Given the description of an element on the screen output the (x, y) to click on. 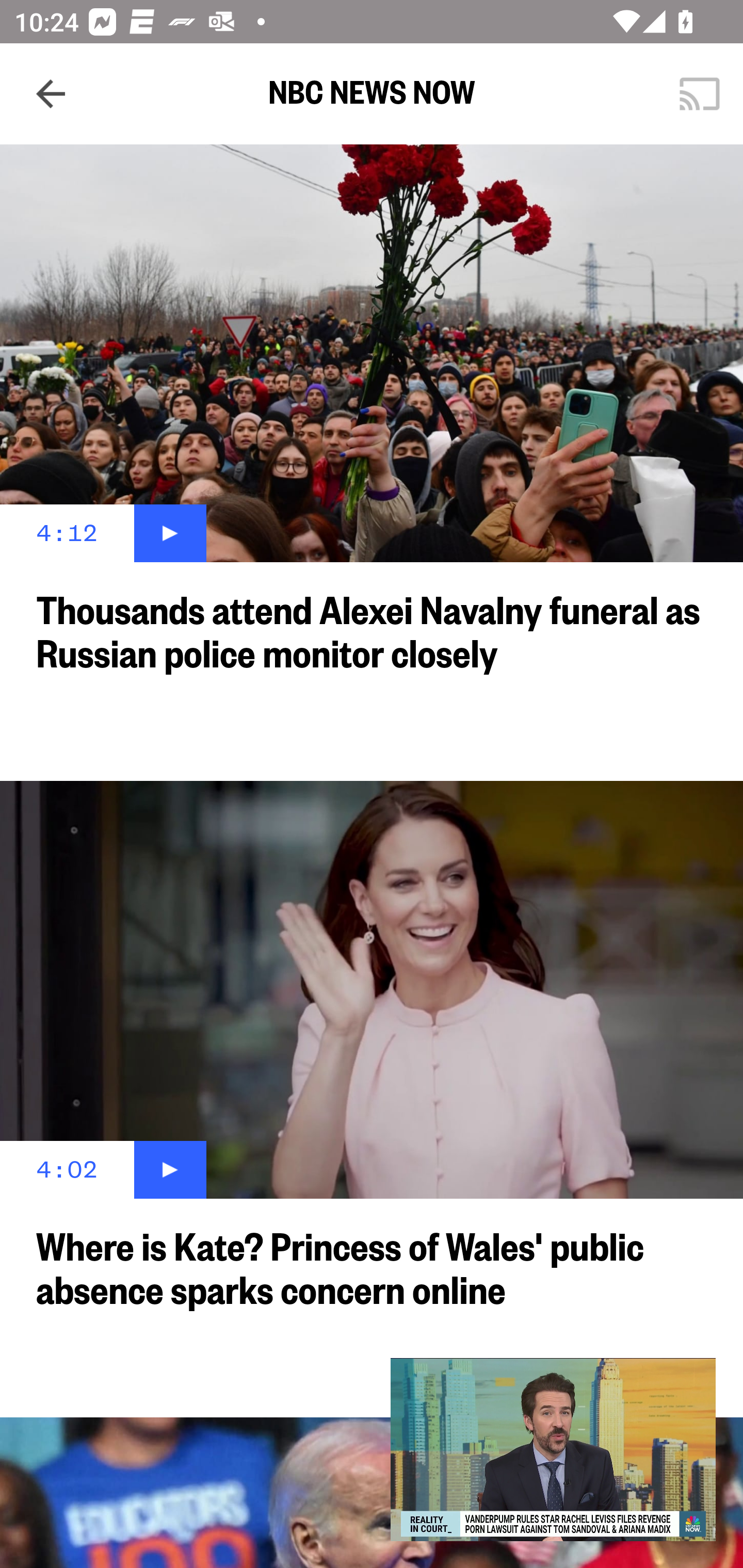
Navigate up (50, 93)
Cast. Disconnected (699, 93)
